Given the description of an element on the screen output the (x, y) to click on. 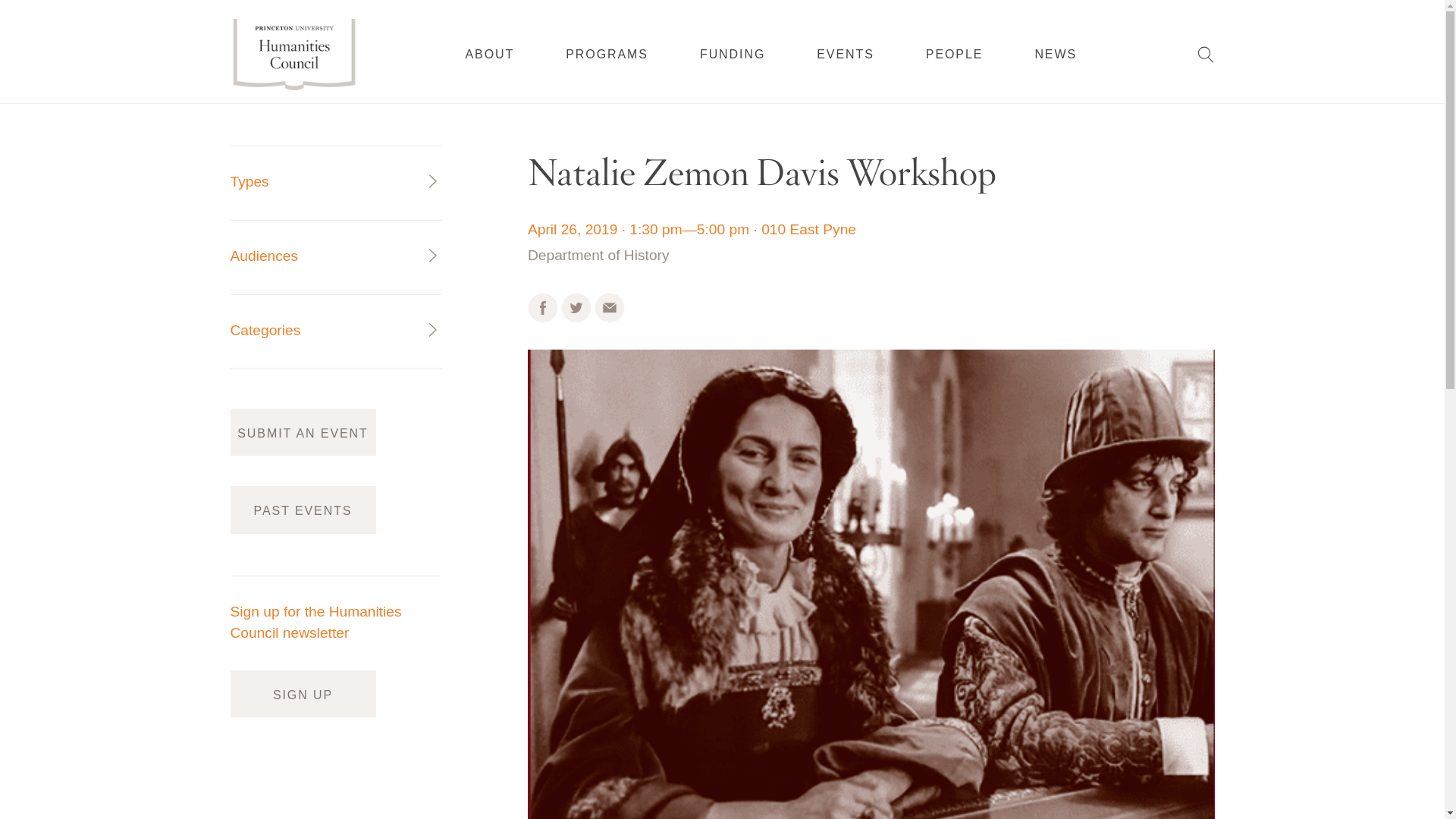
ABOUT (490, 54)
PEOPLE (955, 53)
EVENTS (845, 54)
NEWS (1055, 53)
FUNDING (732, 54)
PROGRAMS (606, 54)
